Given the description of an element on the screen output the (x, y) to click on. 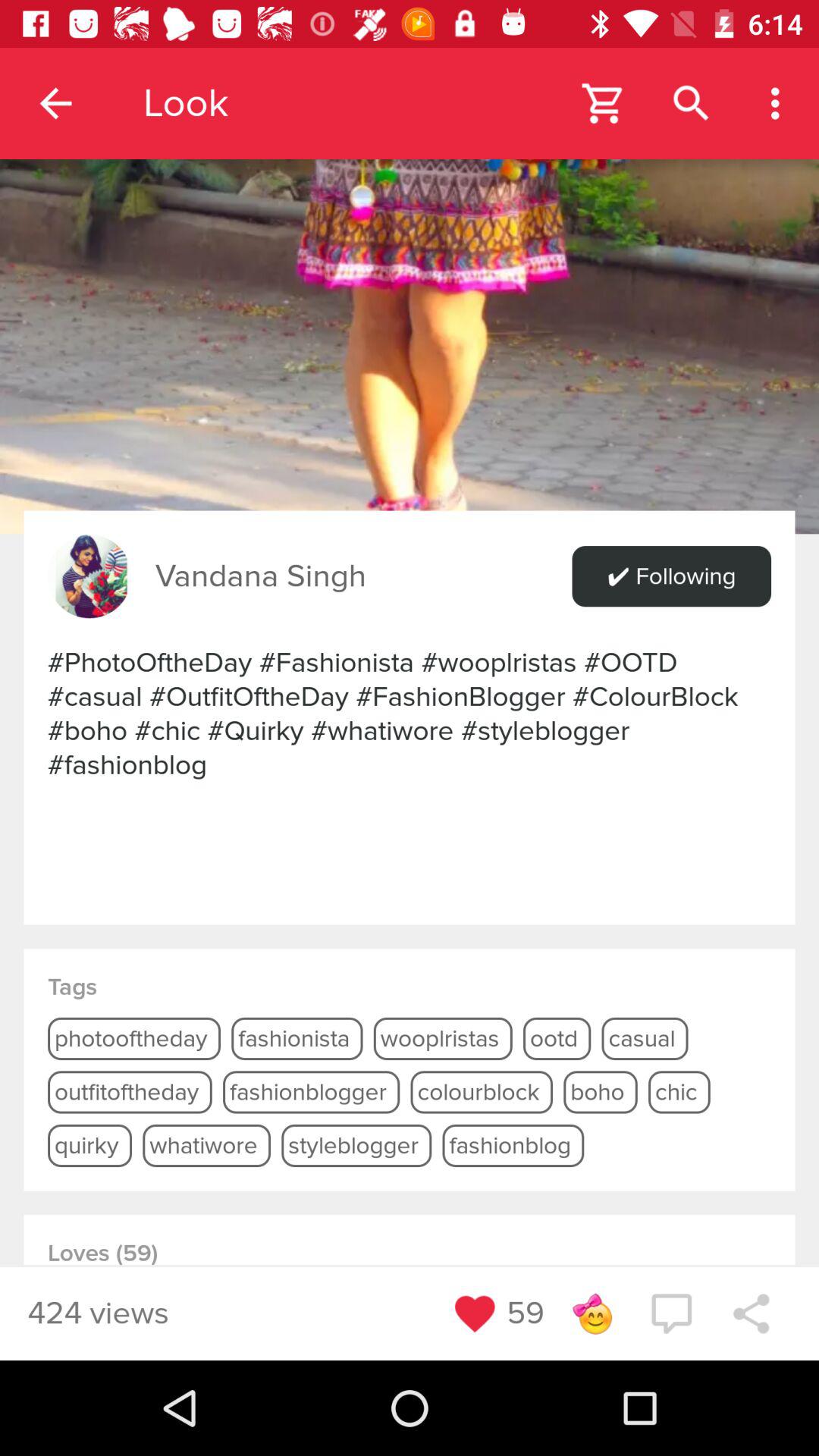
press icon at the center (409, 714)
